Given the description of an element on the screen output the (x, y) to click on. 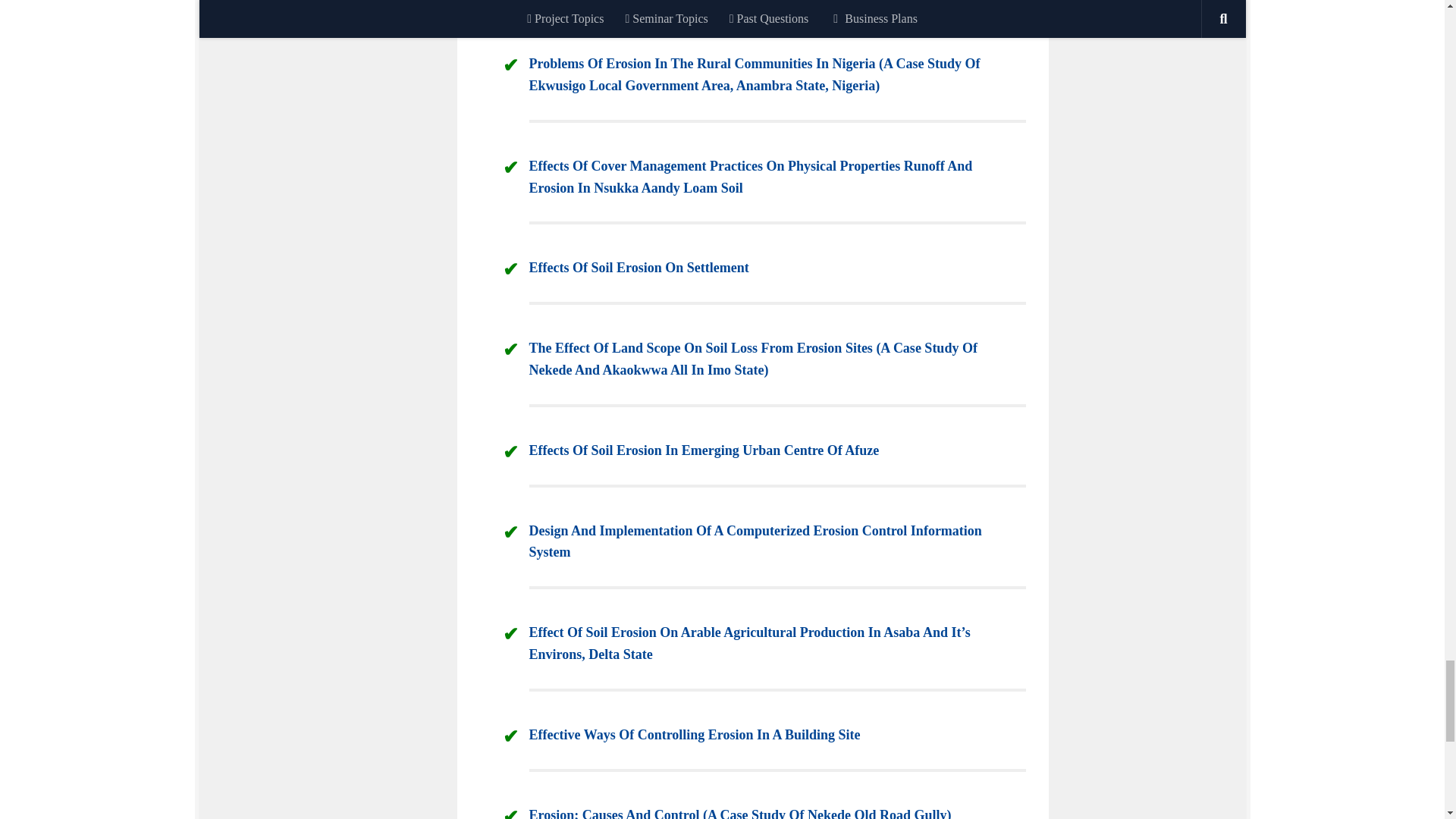
Effects Of Soil Erosion On Settlement (639, 267)
Effective Ways Of Controlling Erosion In A Building Site (694, 734)
Effects Of Soil Erosion On Settlement (639, 267)
Effects Of Soil Erosion In Emerging Urban Centre Of Afuze (704, 450)
